Given the description of an element on the screen output the (x, y) to click on. 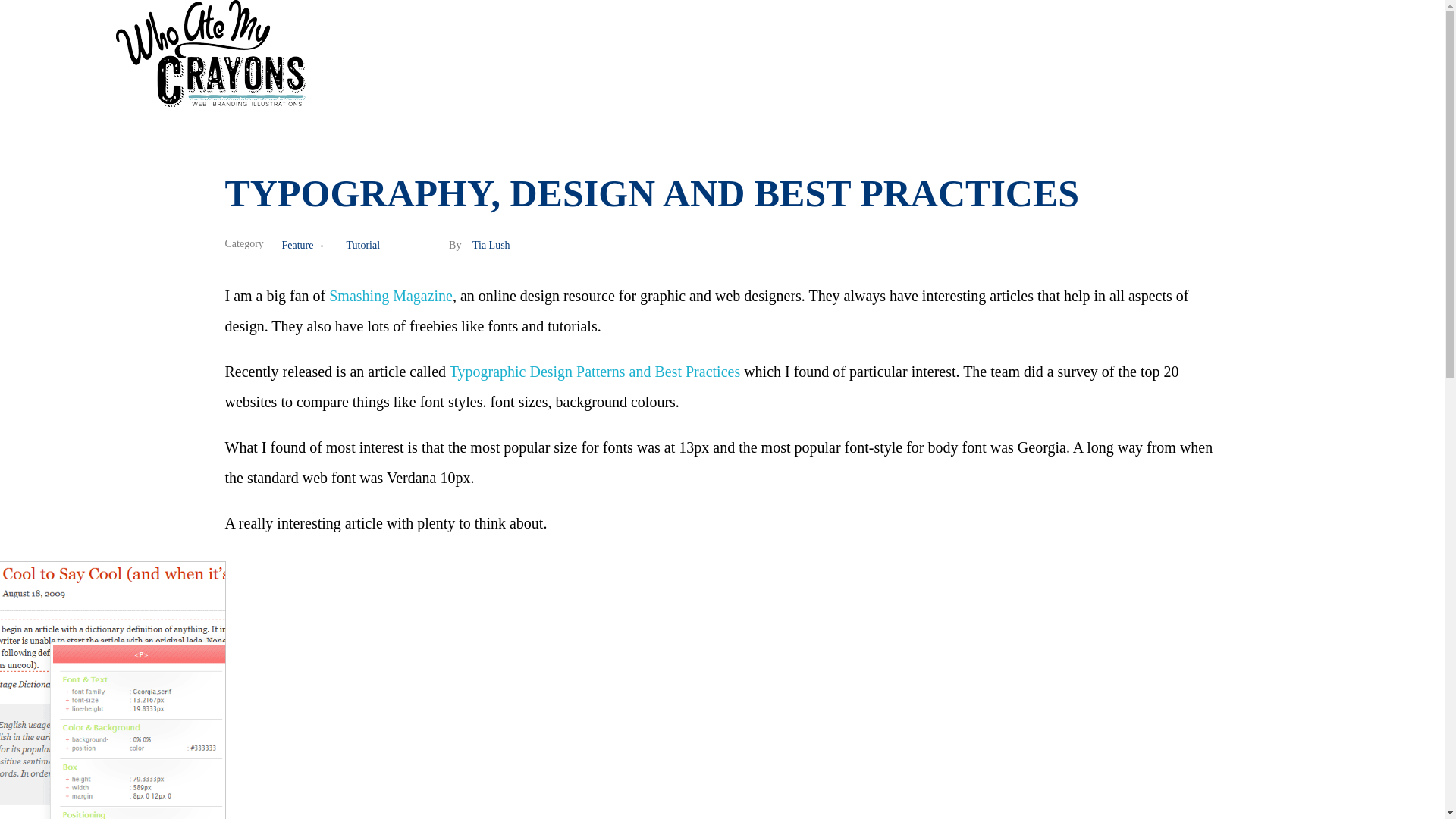
Tia Lush (491, 244)
Tutorial (362, 245)
Feature (307, 245)
View all posts in Feature (307, 245)
Who Ate My Crayons (209, 53)
Typographic Design Patterns and Best Practices (595, 371)
View all posts in Tutorial (362, 245)
Who Ate My Crayons (206, 115)
Smashing Magazine (390, 295)
View all posts by Tia Lush (491, 244)
Who Ate My Crayons (206, 115)
